Given the description of an element on the screen output the (x, y) to click on. 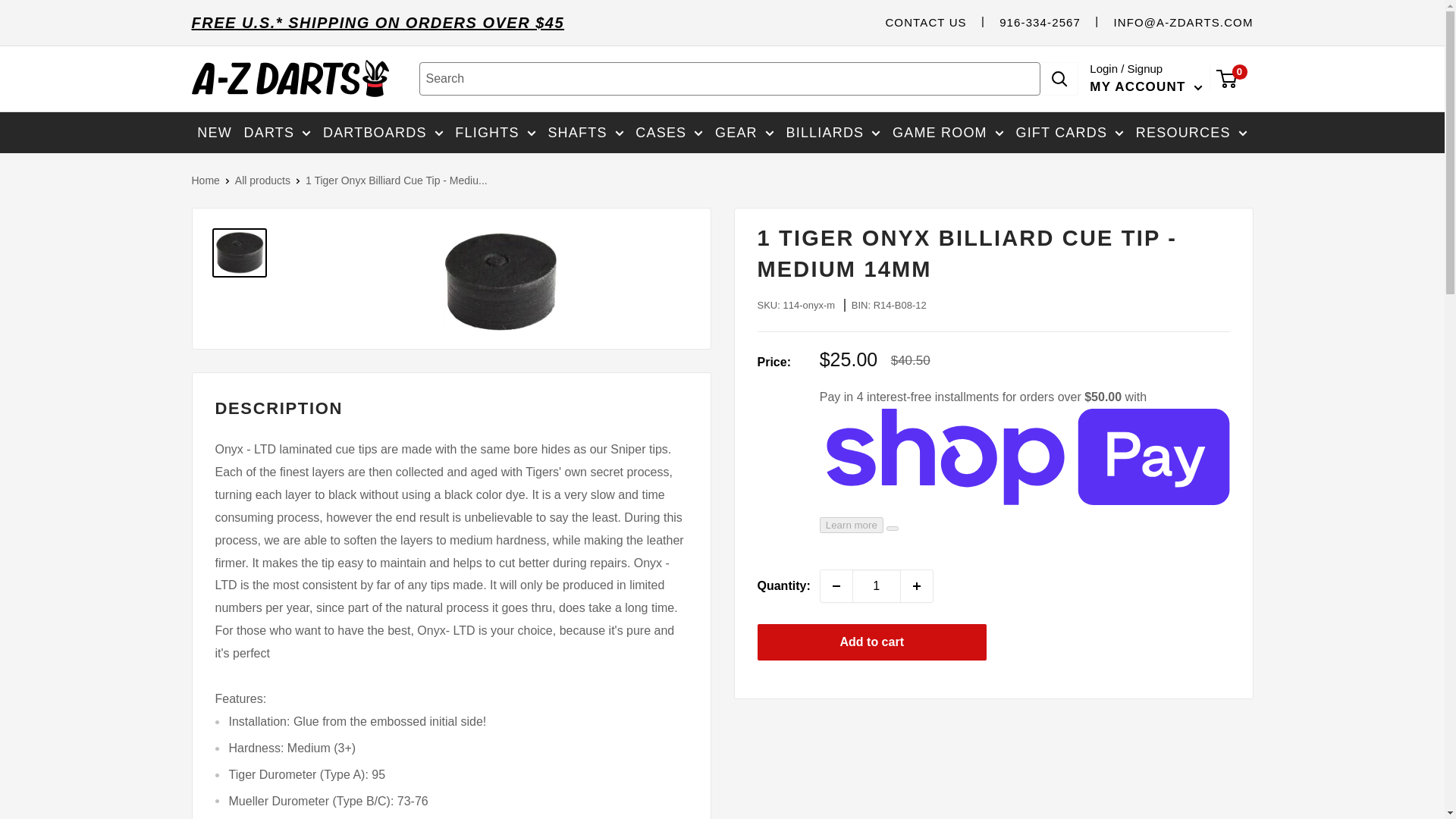
Decrease quantity by 1 (836, 585)
1 (876, 585)
Increase quantity by 1 (917, 585)
CONTACT US (925, 21)
916-334-2567 (1039, 21)
